Given the description of an element on the screen output the (x, y) to click on. 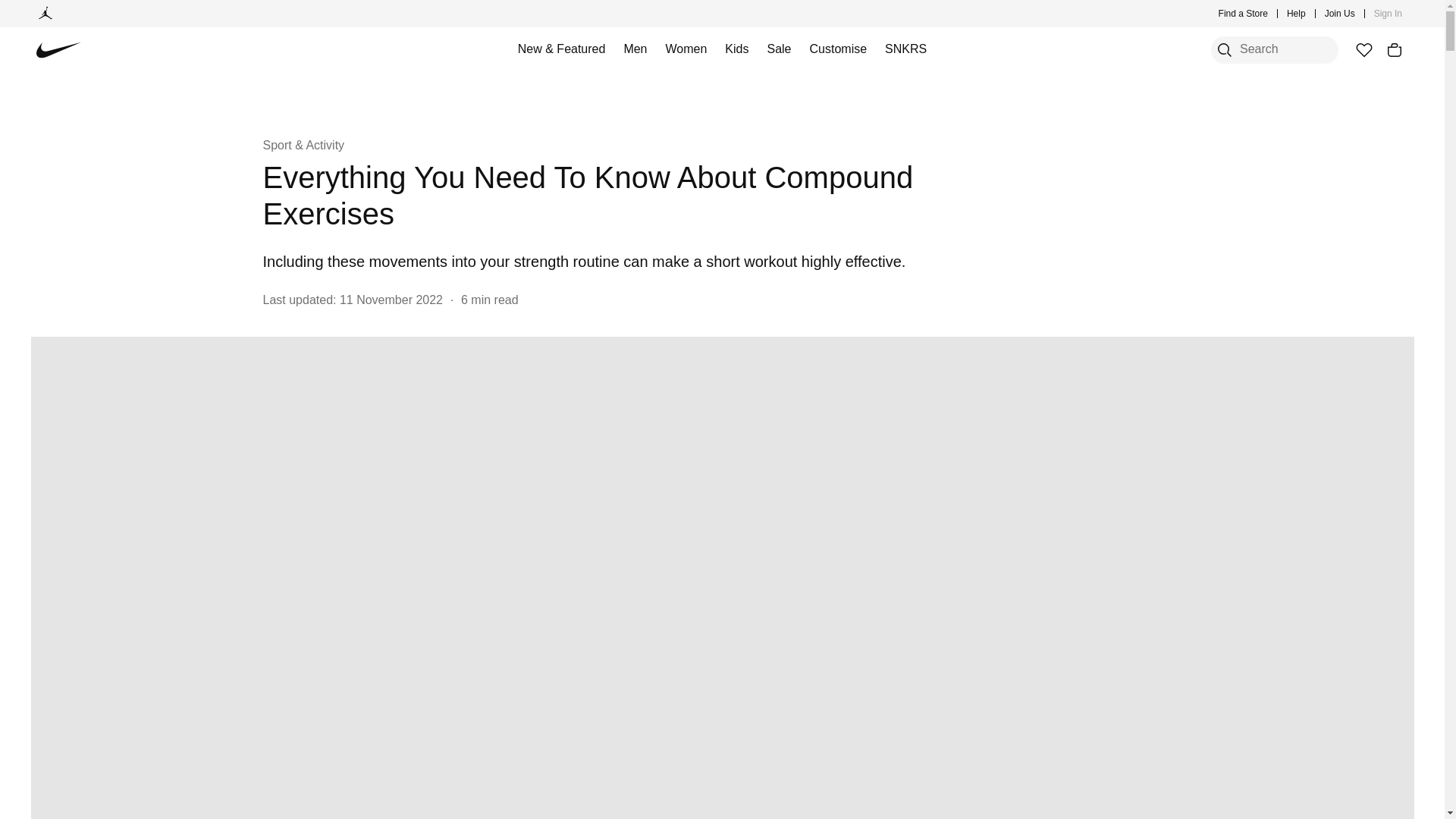
Help (1296, 13)
Find a Store (1243, 13)
Sign In (1388, 13)
Join Us (1339, 13)
Bag Items: 0 (1393, 49)
Favourites (1364, 49)
